Given the description of an element on the screen output the (x, y) to click on. 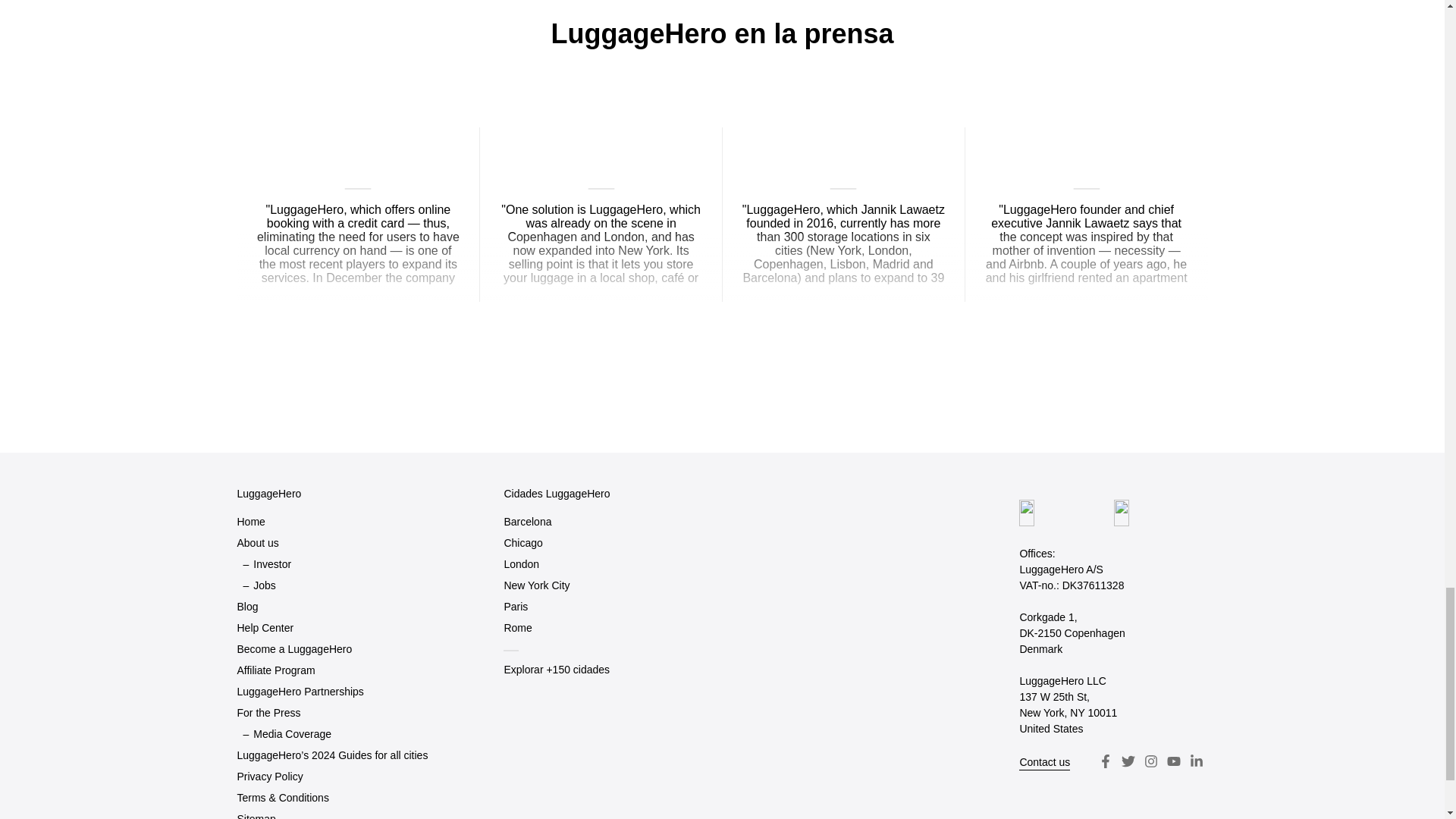
Investor (272, 564)
Chicago (522, 542)
Media Coverage (292, 733)
Barcelona (527, 521)
Jobs (264, 585)
Cidades LuggageHero (556, 493)
Blog (246, 606)
LuggageHero (268, 493)
Help Center (264, 628)
For the Press (267, 712)
